Given the description of an element on the screen output the (x, y) to click on. 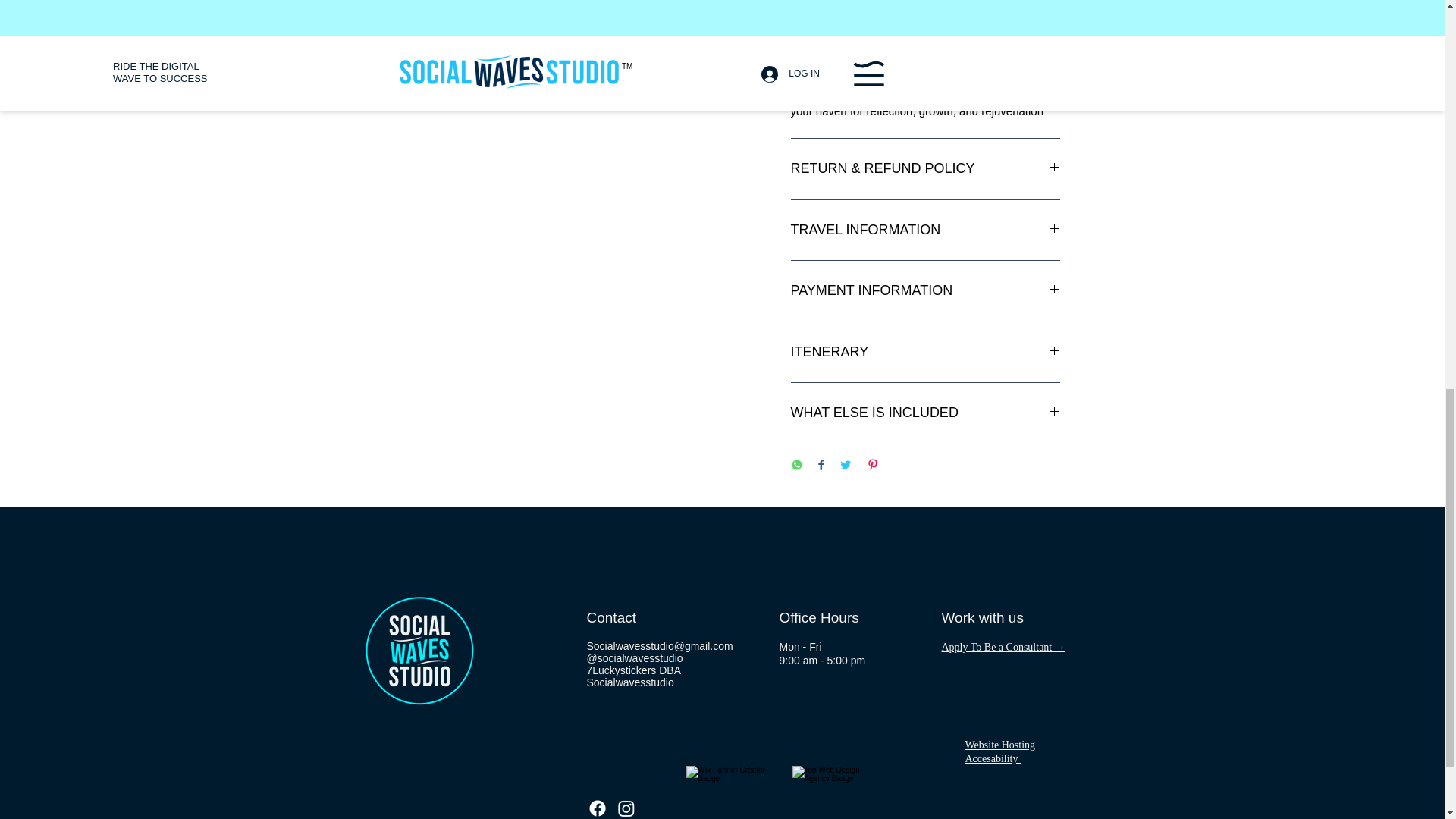
WHAT ELSE IS INCLUDED (924, 413)
PAYMENT INFORMATION (924, 291)
TRAVEL INFORMATION (924, 230)
ITENERARY (924, 352)
Accesability  (991, 758)
Website Hosting (999, 744)
